Given the description of an element on the screen output the (x, y) to click on. 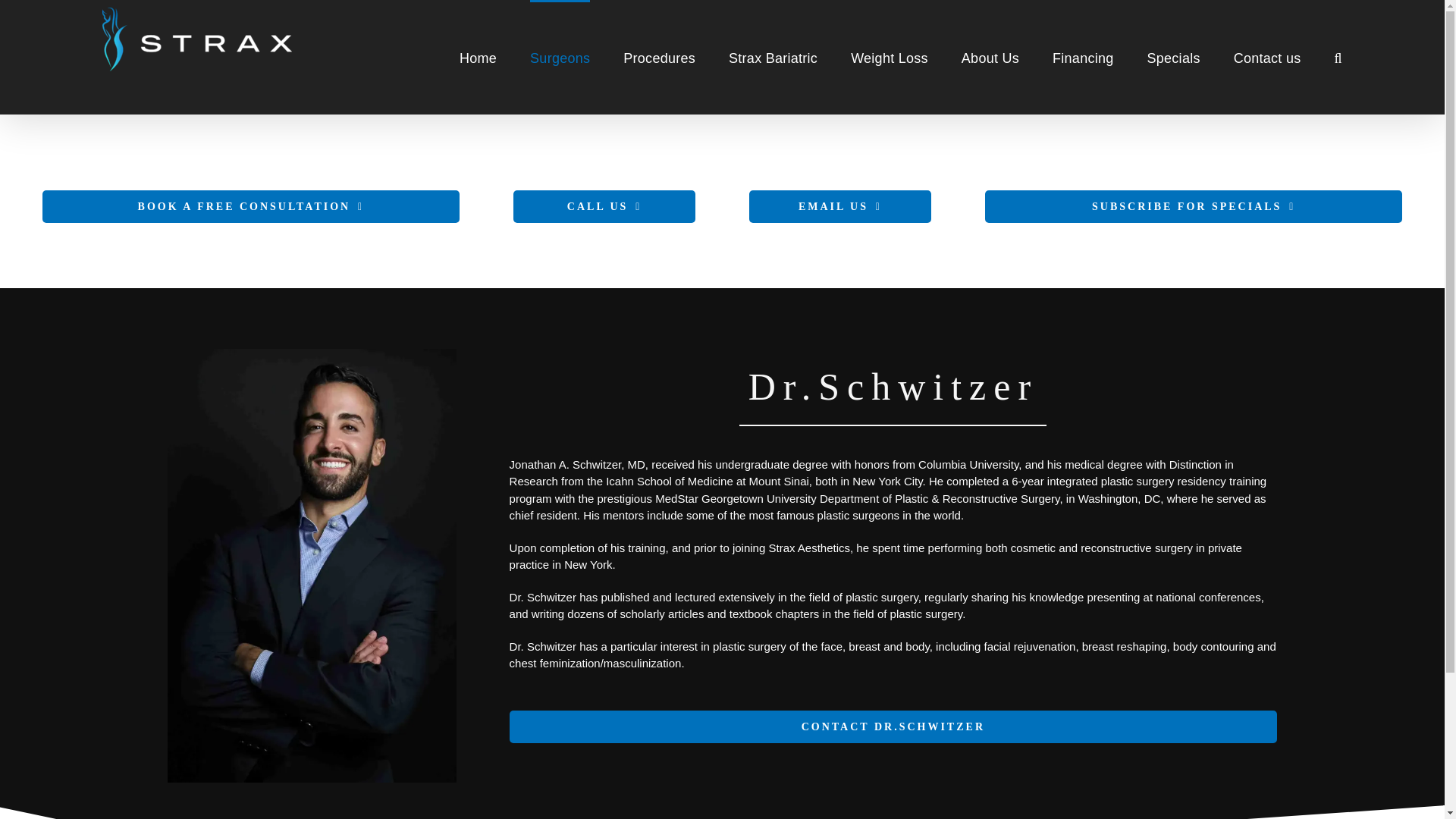
Weight Loss (889, 56)
About Us (989, 56)
Specials (1173, 56)
SCHWITZER (312, 565)
Procedures (659, 56)
Strax Bariatric (772, 56)
Surgeons (559, 56)
Financing (1082, 56)
Contact us (1267, 56)
Home (478, 56)
